Given the description of an element on the screen output the (x, y) to click on. 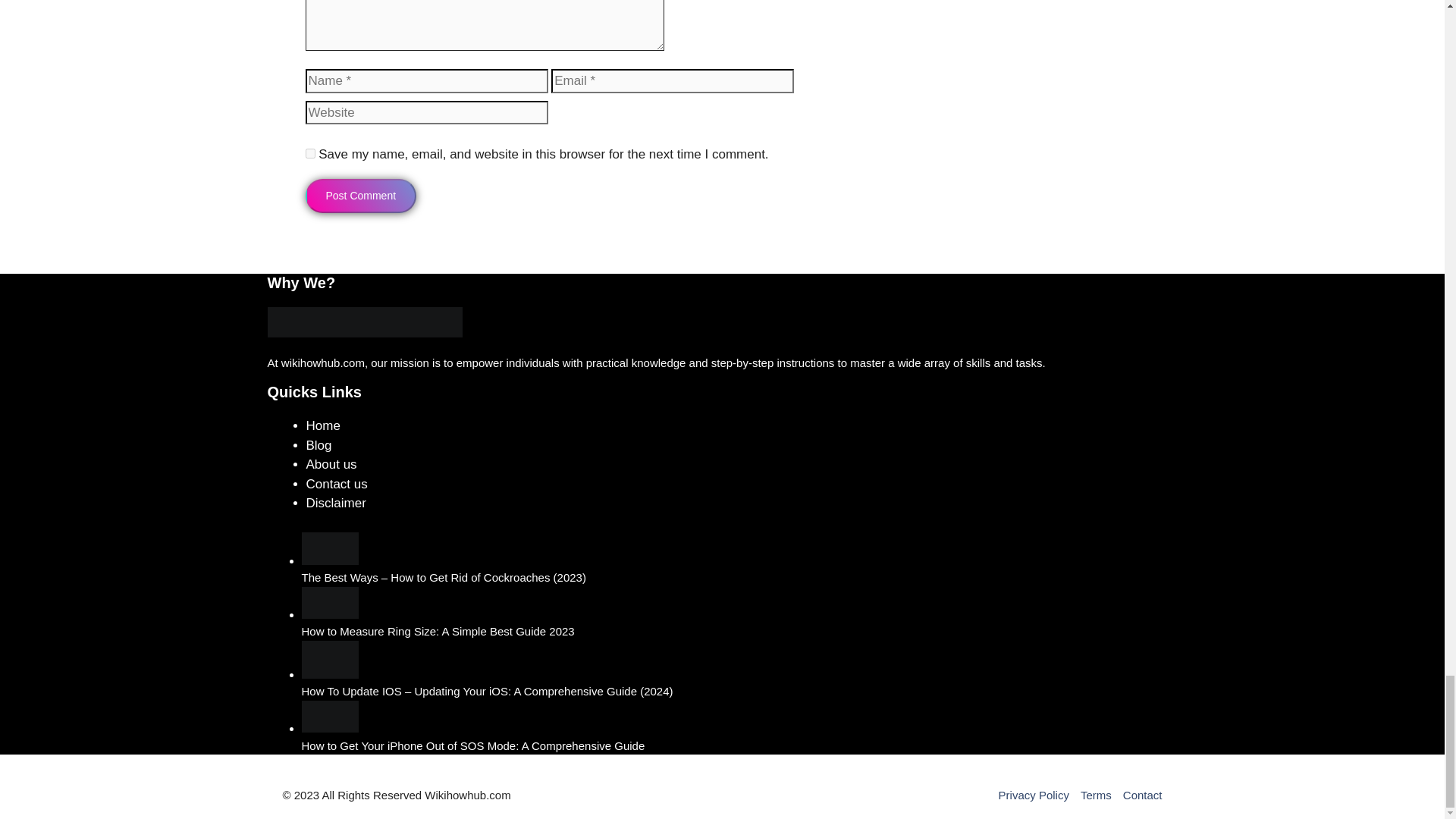
yes (309, 153)
Post Comment (360, 195)
